Given the description of an element on the screen output the (x, y) to click on. 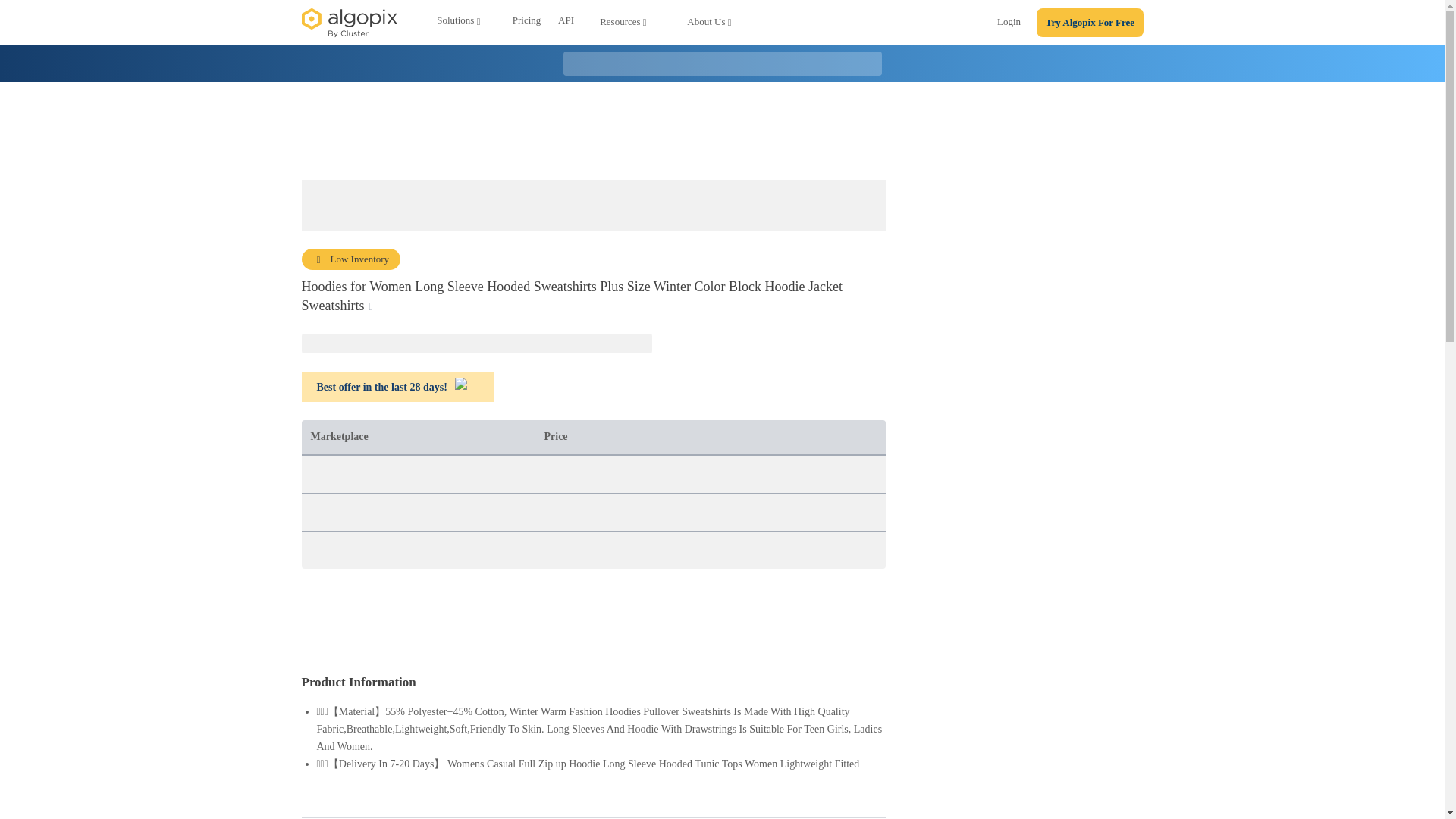
Pricing (525, 22)
API (566, 22)
Try Algopix For Free (1089, 22)
Login (1008, 24)
